Given the description of an element on the screen output the (x, y) to click on. 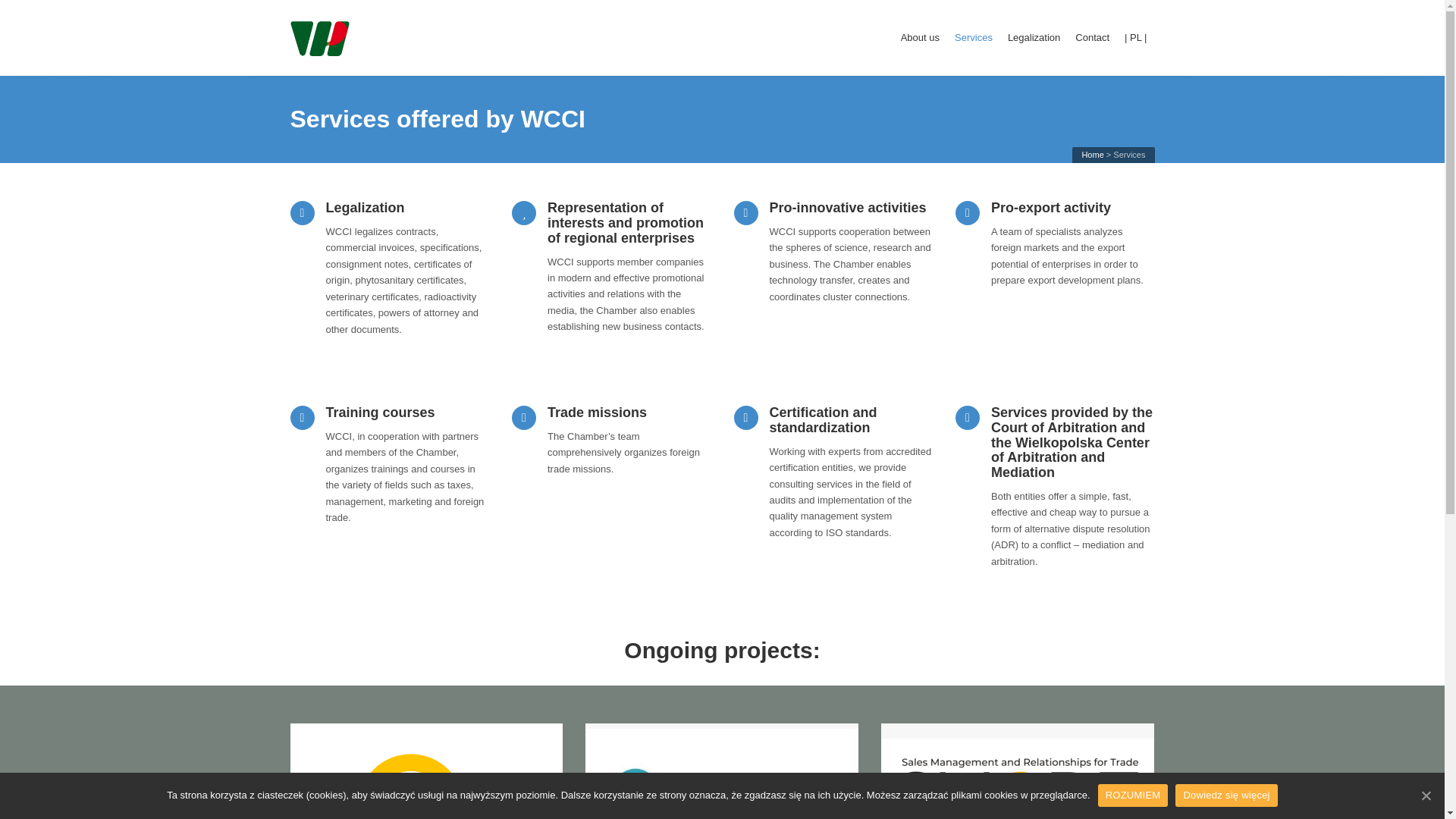
Home (1092, 153)
Legalization (1033, 38)
ROZUMIEM (1133, 794)
